Given the description of an element on the screen output the (x, y) to click on. 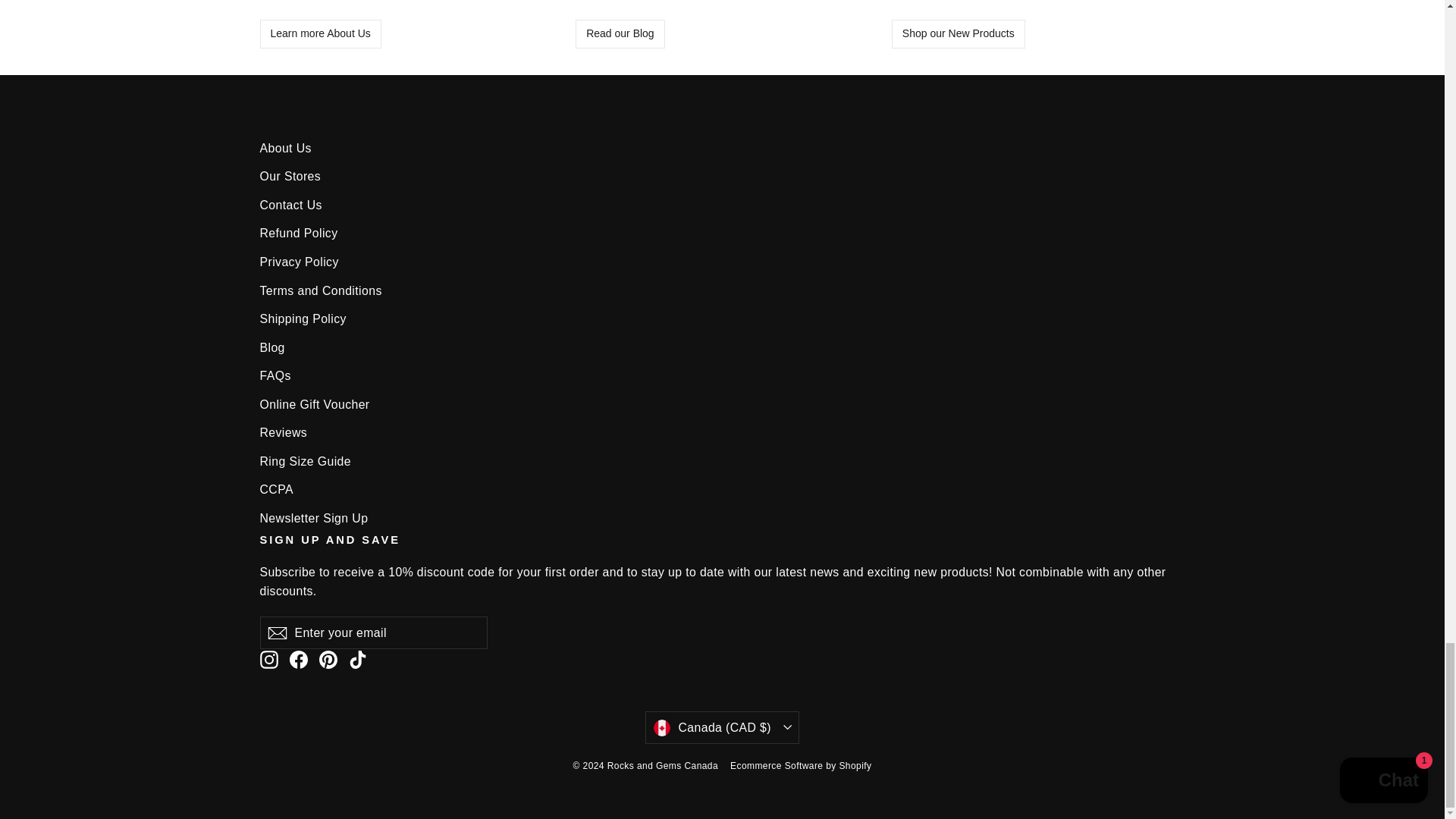
Rocks and Gems Canada on TikTok (357, 659)
Rocks and Gems Canada on Pinterest (327, 659)
Rocks and Gems Canada on Facebook (298, 659)
